Given the description of an element on the screen output the (x, y) to click on. 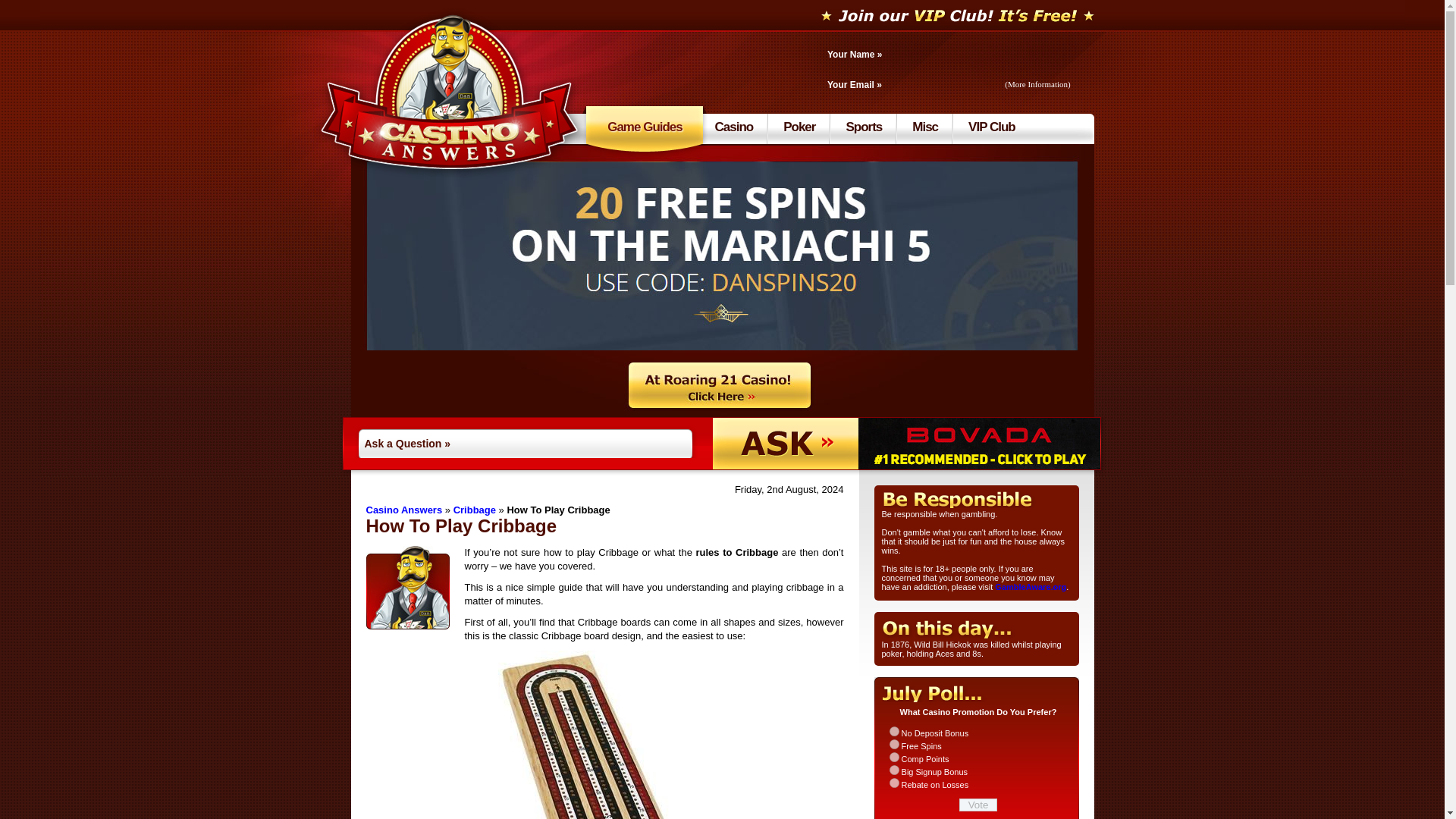
109 (893, 731)
classic-cribbage-board (604, 734)
112 (893, 769)
113 (893, 782)
   Vote    (978, 804)
110 (893, 744)
111 (893, 757)
